Given the description of an element on the screen output the (x, y) to click on. 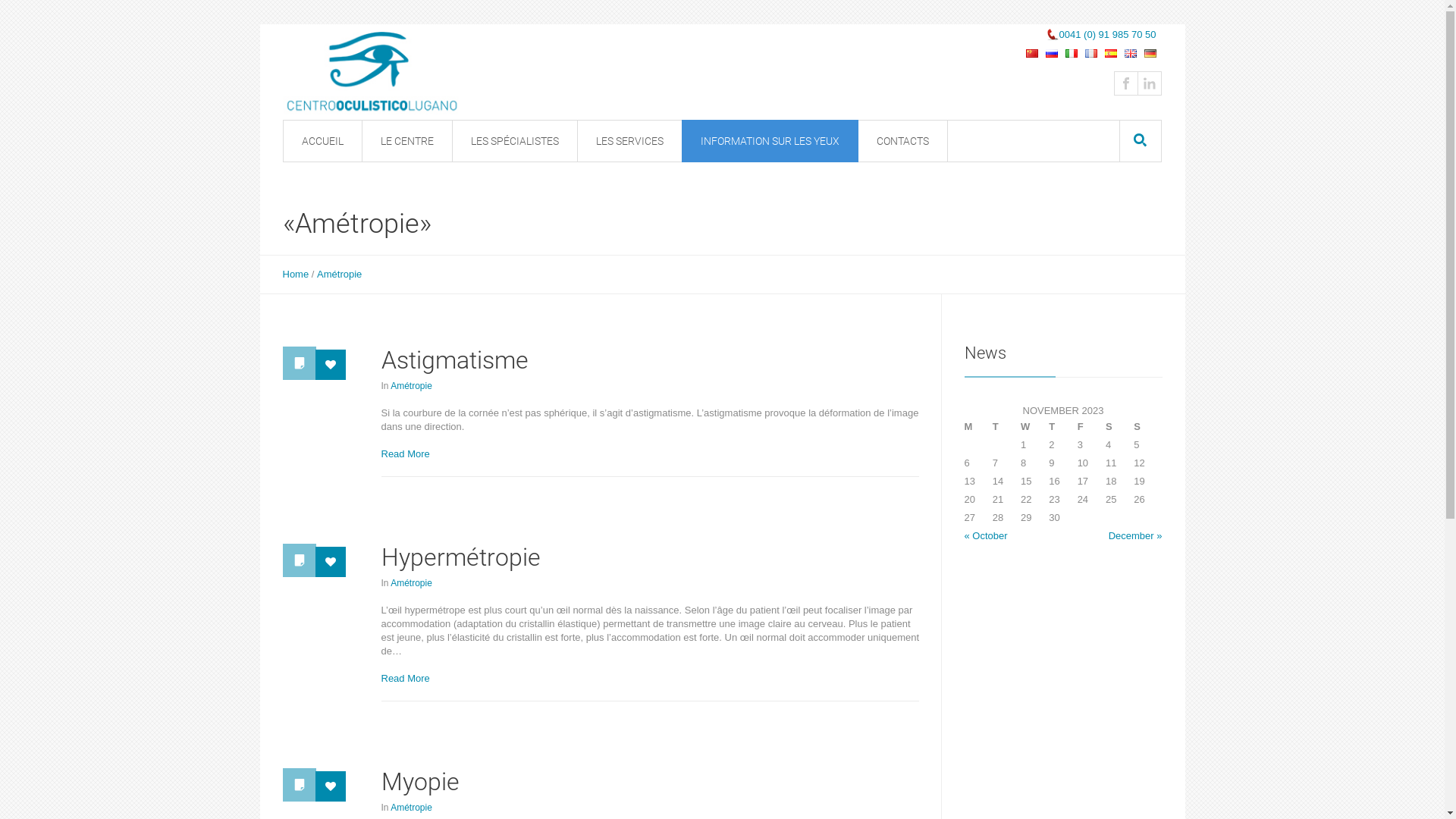
Centro Oculistico Lugano Element type: hover (376, 73)
Read More Element type: text (404, 678)
ACCUEIL Element type: text (321, 140)
English Element type: hover (1129, 53)
LE CENTRE Element type: text (405, 140)
Italiano Element type: hover (1070, 53)
Home Element type: text (295, 273)
Read More Element type: text (404, 454)
INFORMATION SUR LES YEUX Element type: text (768, 140)
0041 (0) 91 985 70 50 Element type: text (1101, 34)
Astigmatisme Element type: text (453, 359)
Deutsch Element type: hover (1149, 53)
CONTACTS Element type: text (901, 140)
Myopie Element type: text (419, 781)
LES SERVICES Element type: text (628, 140)
# Element type: hover (1148, 83)
# Element type: hover (1125, 83)
